Given the description of an element on the screen output the (x, y) to click on. 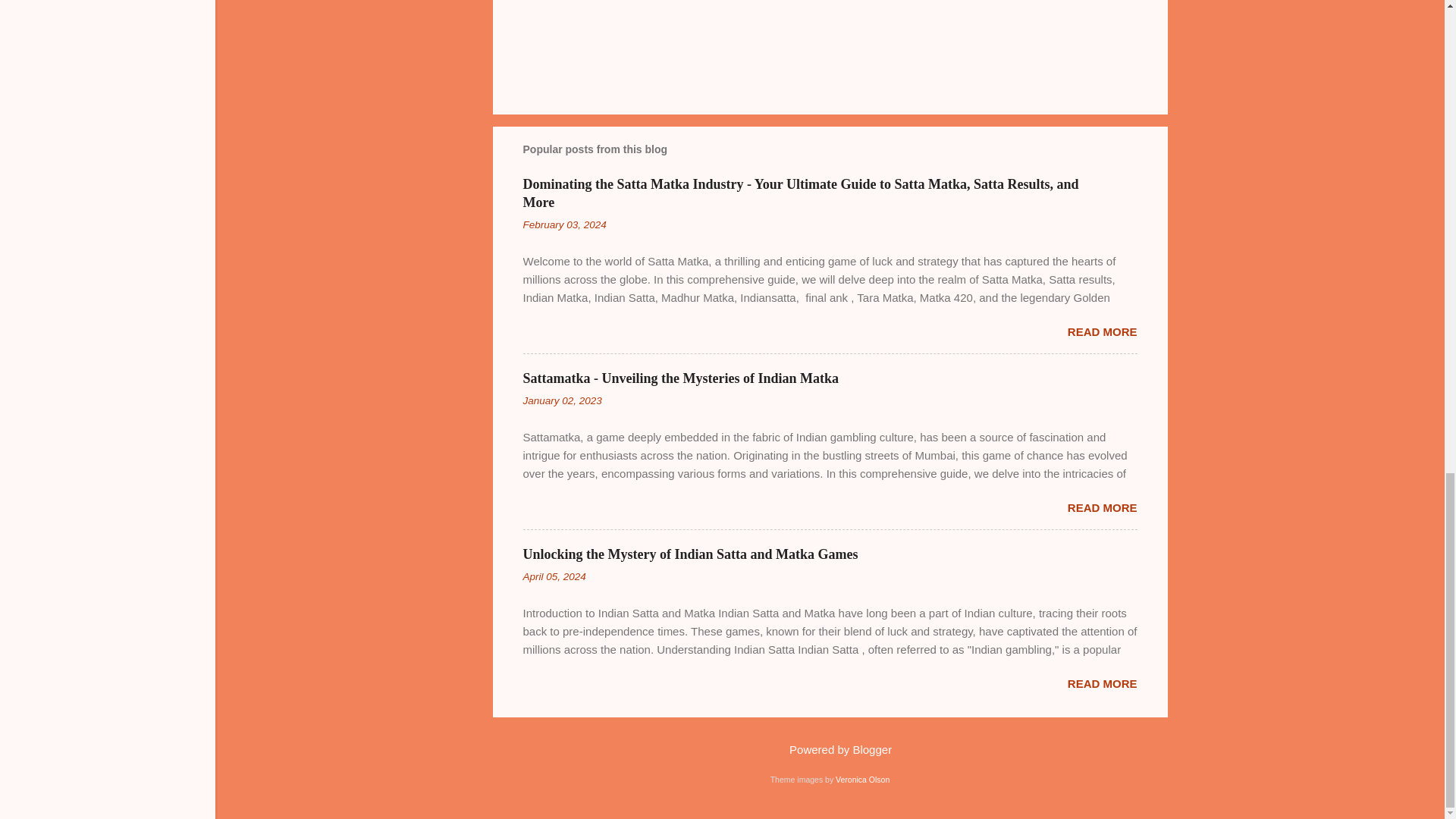
April 05, 2024 (554, 576)
READ MORE (1102, 507)
February 03, 2024 (564, 224)
permanent link (564, 224)
READ MORE (1102, 683)
Powered by Blogger (829, 748)
Veronica Olson (862, 778)
January 02, 2023 (562, 400)
READ MORE (1102, 331)
Unlocking the Mystery of Indian Satta and Matka Games (690, 554)
Sattamatka - Unveiling the Mysteries of Indian Matka (681, 378)
